Given the description of an element on the screen output the (x, y) to click on. 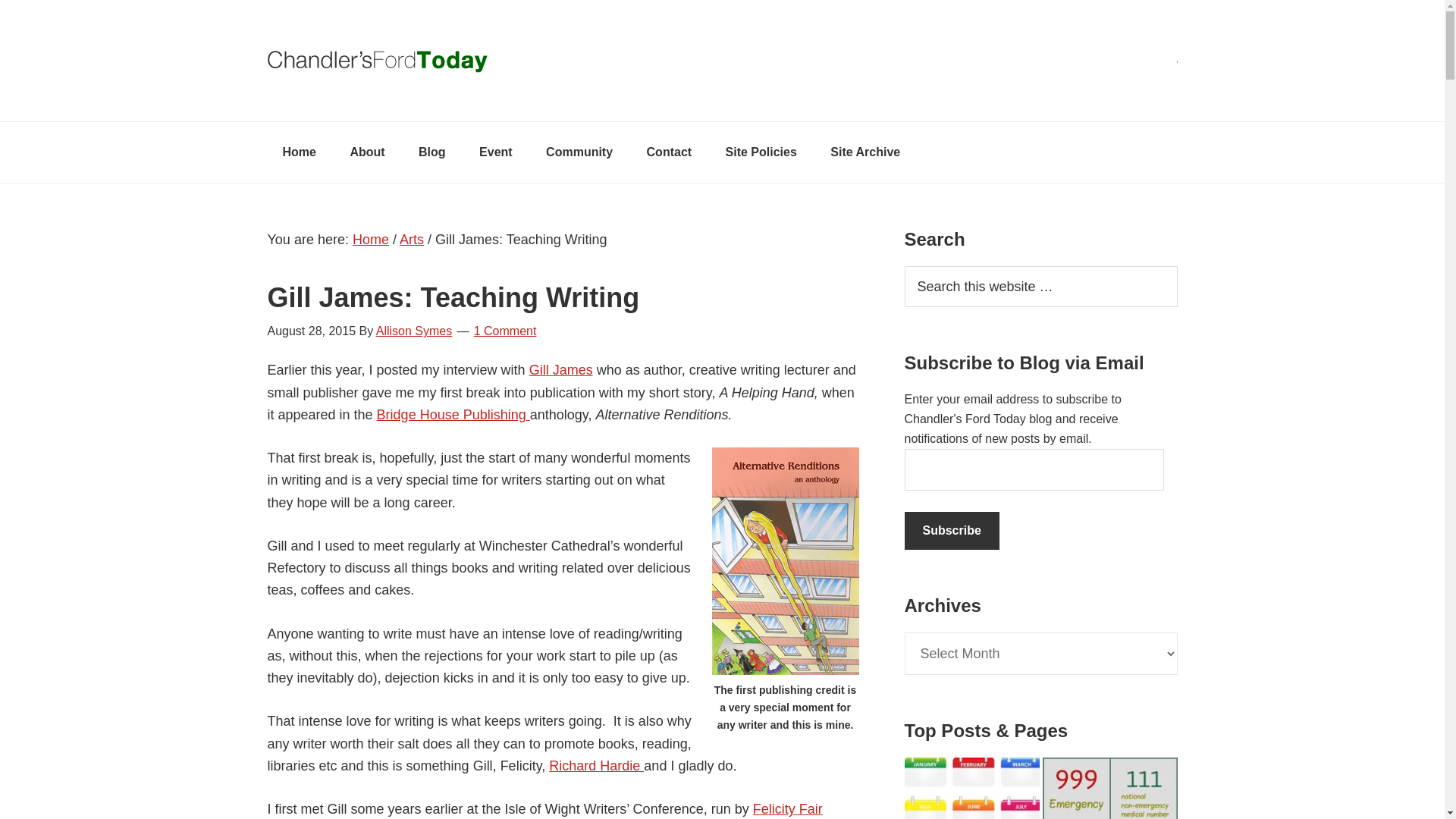
Gill James (560, 369)
Community (579, 152)
Site Policies (761, 152)
Home (370, 239)
Site Archive (865, 152)
Exciting community events (495, 152)
Bridge House Publishing (453, 414)
Richard Hardie (595, 765)
